Given the description of an element on the screen output the (x, y) to click on. 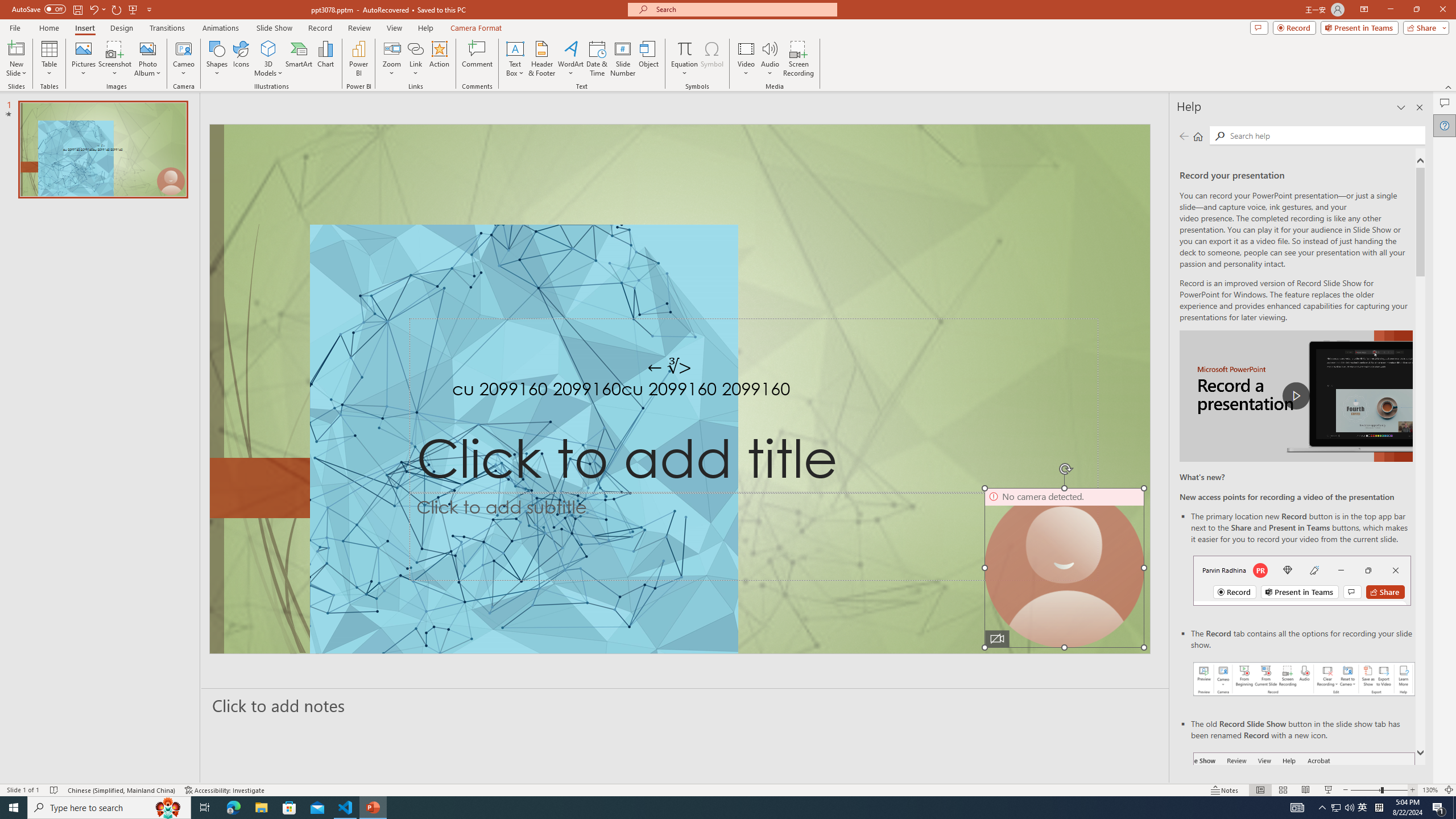
An abstract genetic concept (679, 388)
Header & Footer... (541, 58)
Symbol... (711, 58)
Cameo (183, 48)
Record your presentations screenshot one (1304, 678)
Chart... (325, 58)
Microsoft search (742, 9)
